Given the description of an element on the screen output the (x, y) to click on. 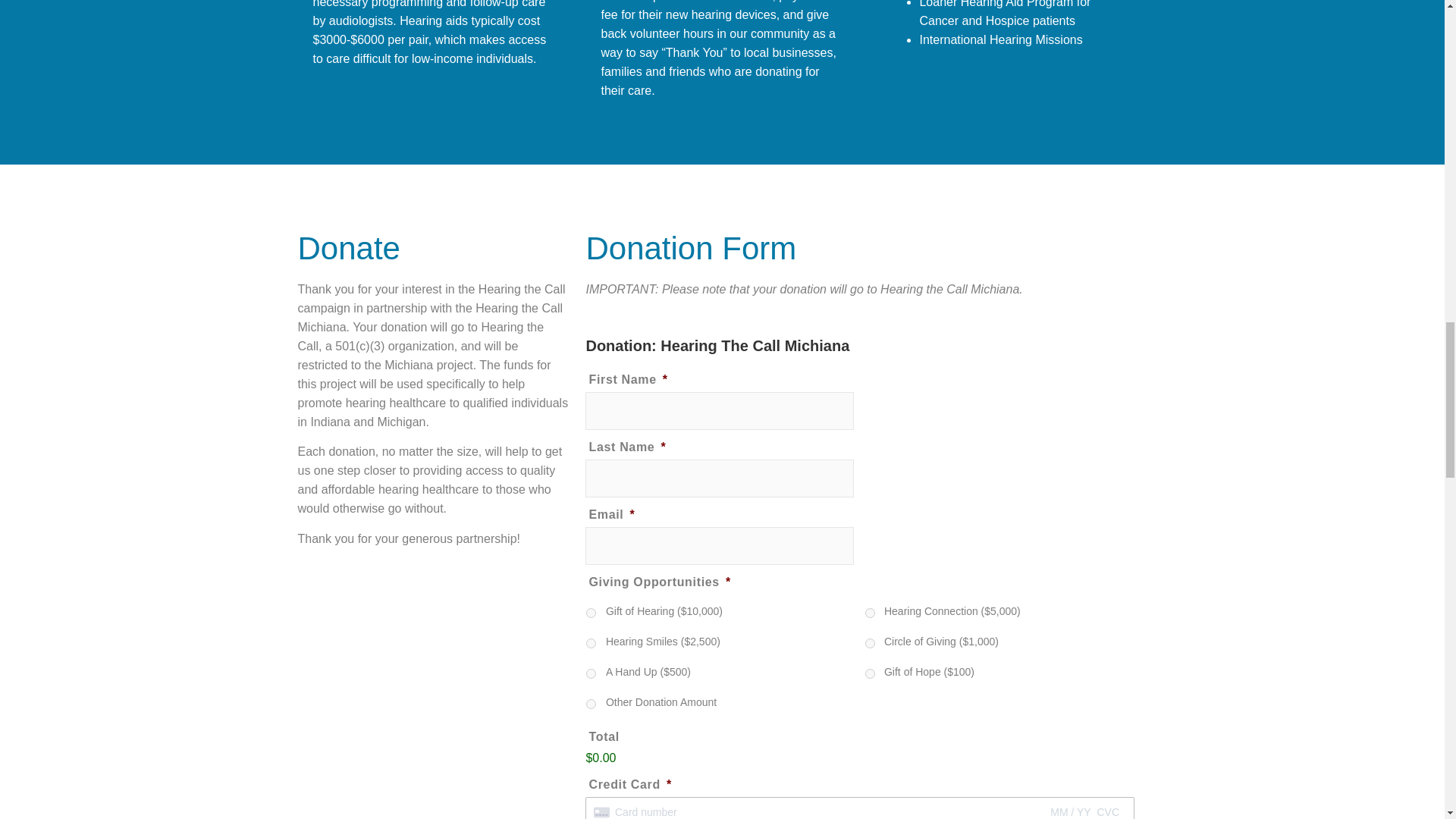
Secure card payment input frame (859, 812)
